Given the description of an element on the screen output the (x, y) to click on. 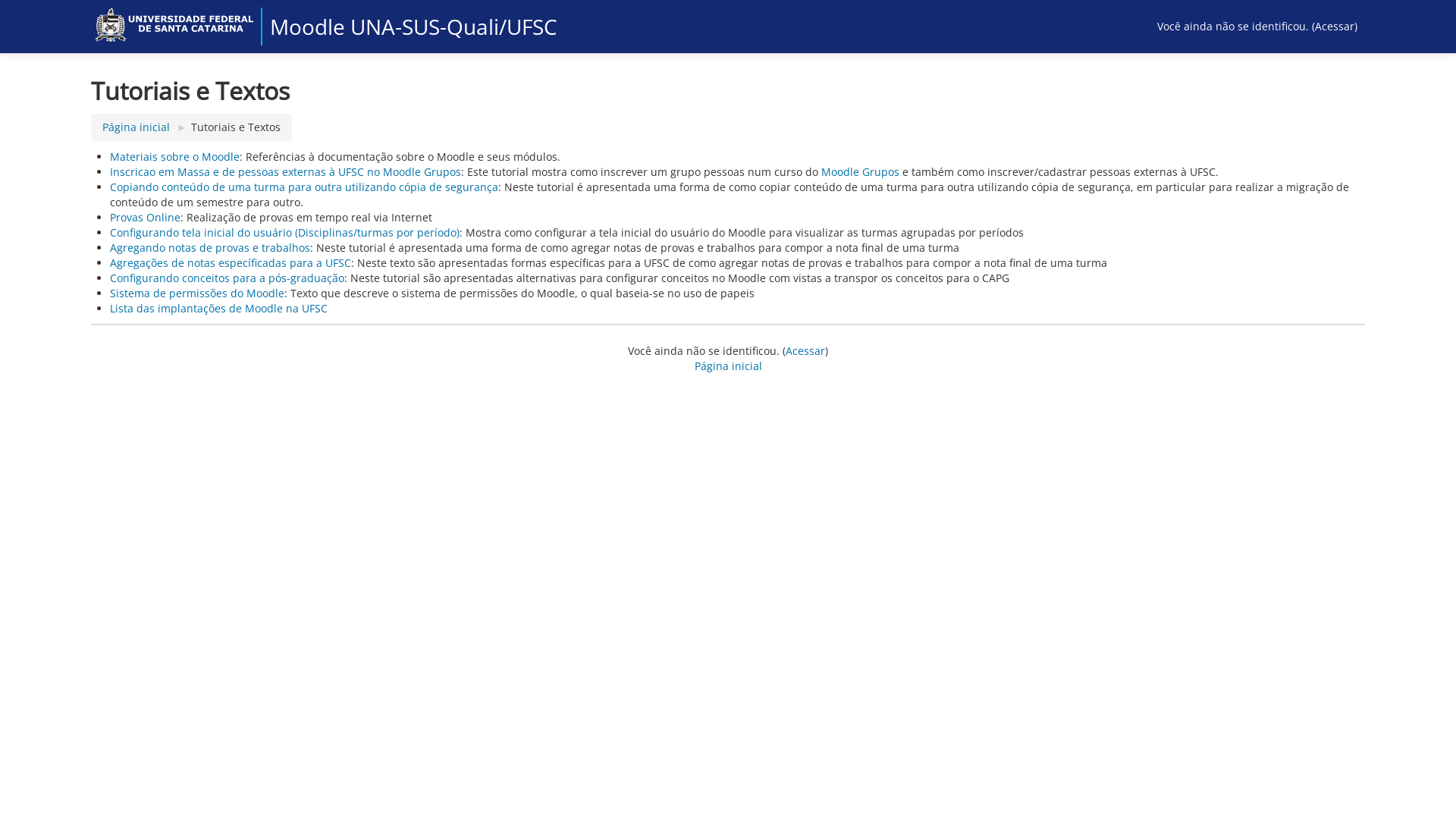
Acessar Element type: text (805, 350)
Moodle Grupos Element type: text (860, 171)
Provas Online Element type: text (144, 217)
Materiais sobre o Moodle Element type: text (174, 156)
Acessar Element type: text (1334, 25)
Agregando notas de provas e trabalhos Element type: text (209, 247)
